Given the description of an element on the screen output the (x, y) to click on. 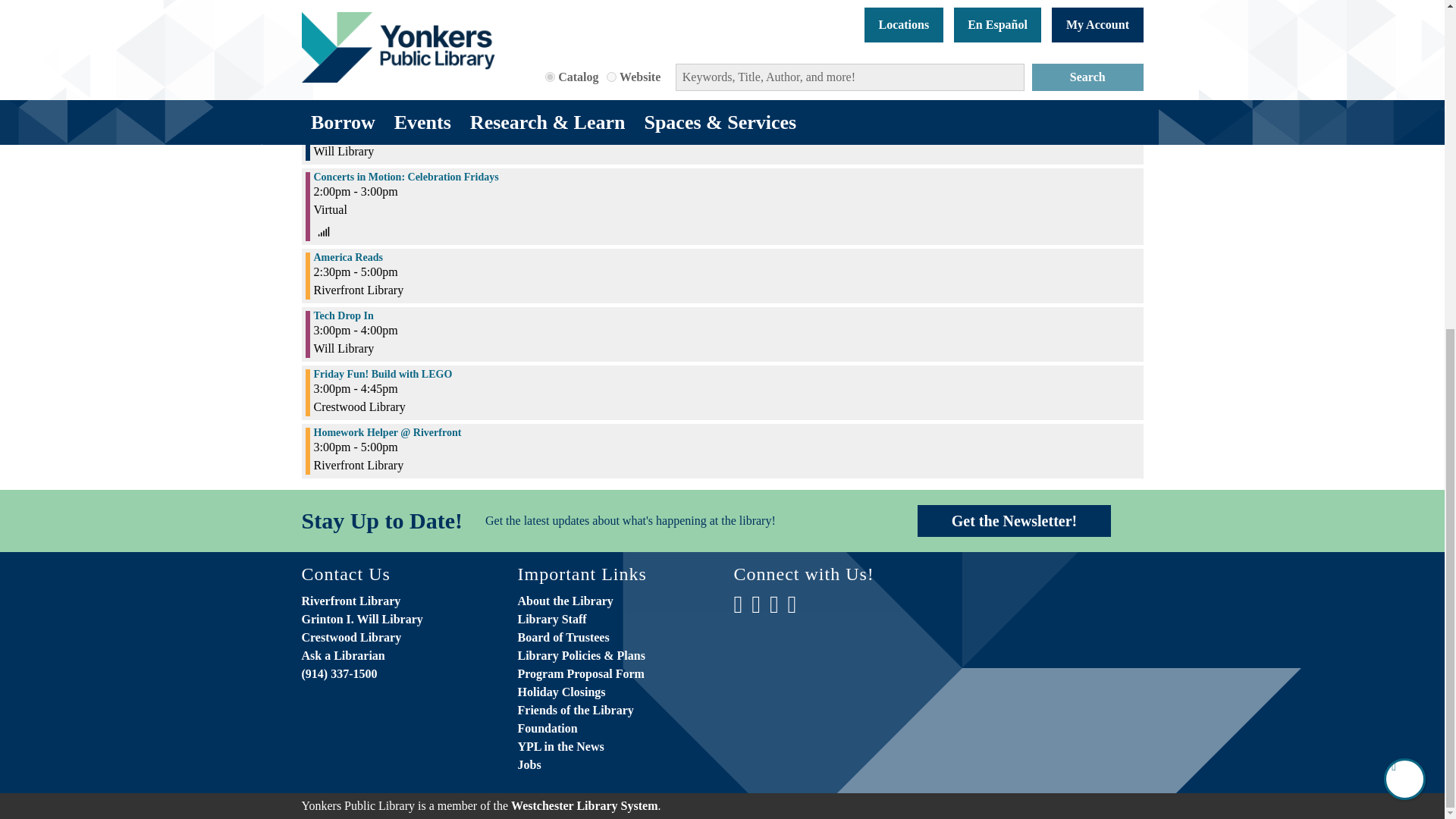
Back To Top (1404, 234)
